Given the description of an element on the screen output the (x, y) to click on. 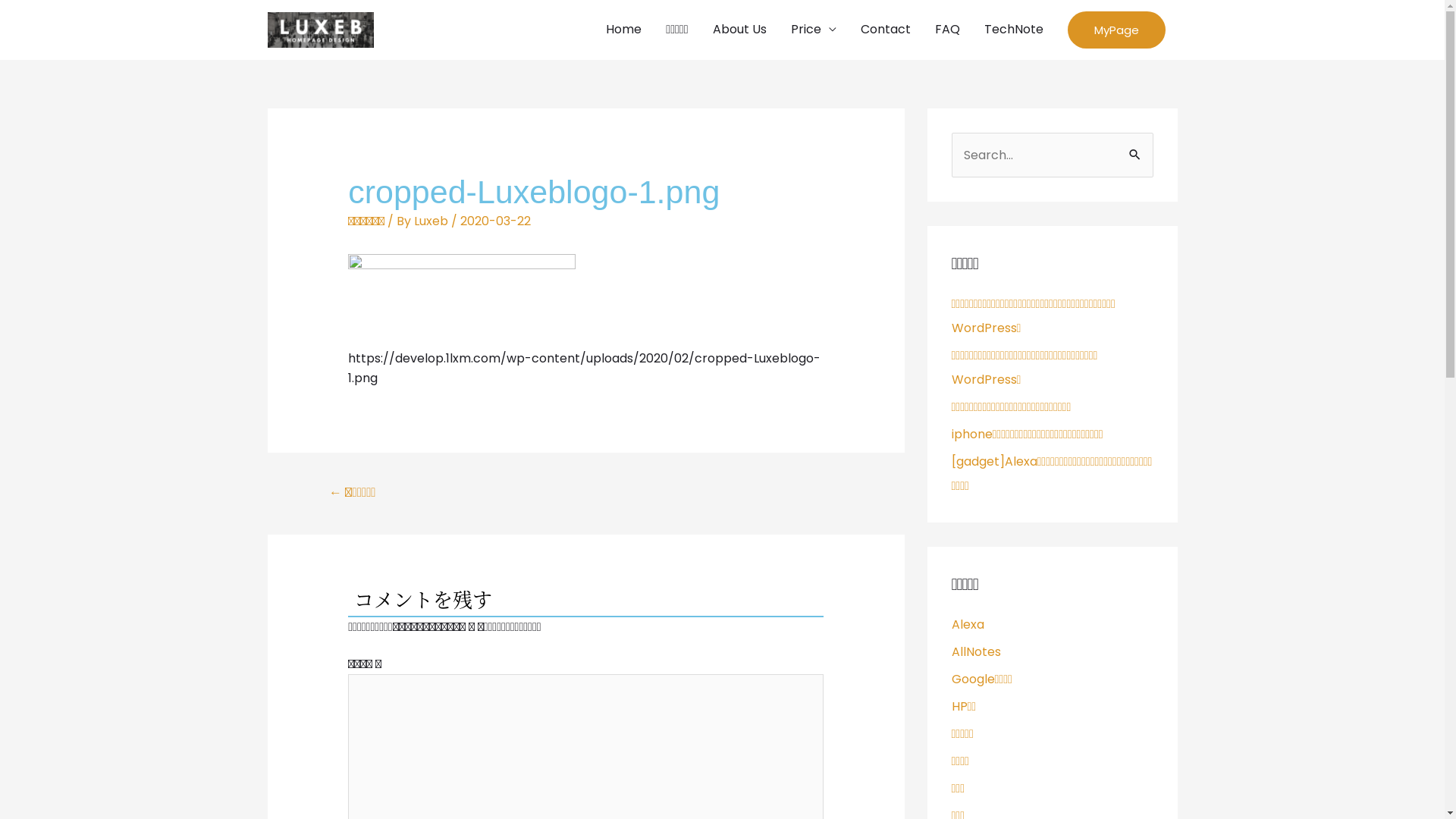
Price Element type: text (812, 29)
About Us Element type: text (739, 29)
AllNotes Element type: text (975, 651)
MyPage Element type: text (1116, 29)
FAQ Element type: text (946, 29)
TechNote Element type: text (1013, 29)
Luxeb Element type: text (432, 220)
Home Element type: text (623, 29)
Alexa Element type: text (966, 624)
Contact Element type: text (884, 29)
